Given the description of an element on the screen output the (x, y) to click on. 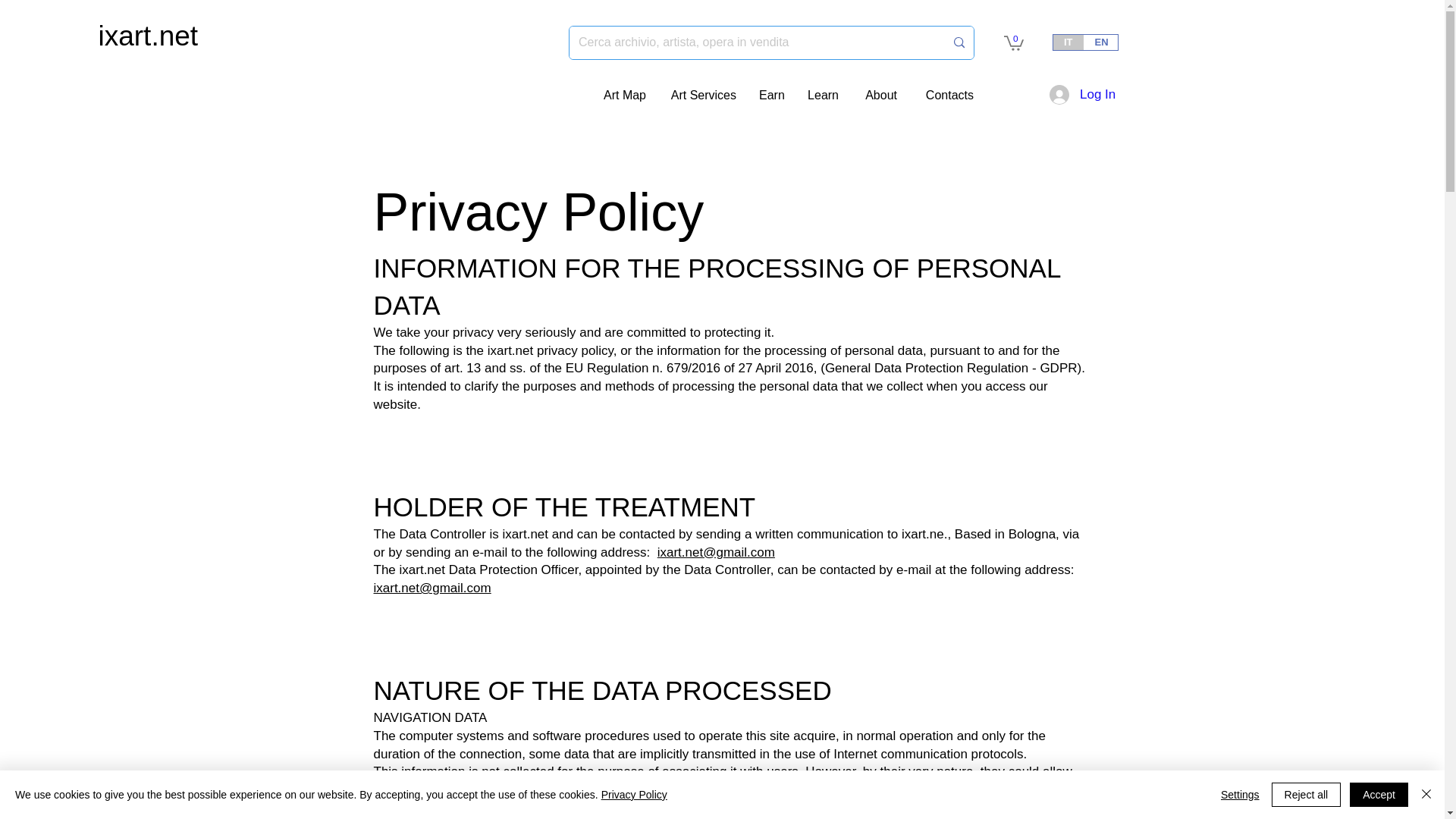
Learn (822, 95)
Art Services (703, 95)
EN (1101, 42)
ixart.net (148, 35)
About (879, 95)
Contacts (946, 95)
Earn (771, 95)
IT (1067, 42)
0 (1013, 42)
Art Map (624, 95)
0 (1013, 42)
Log In (1078, 94)
